Given the description of an element on the screen output the (x, y) to click on. 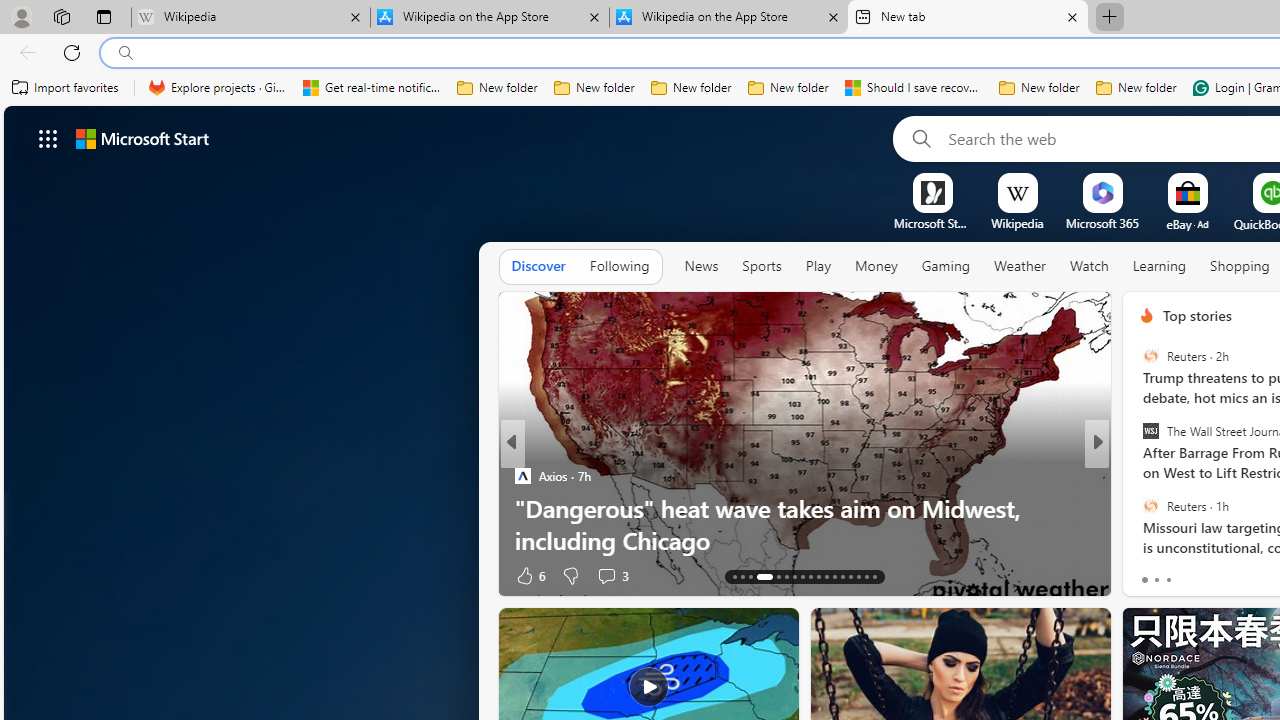
GOBankingRates (522, 507)
135 Like (1151, 574)
AutomationID: tab-25 (842, 576)
